Given the description of an element on the screen output the (x, y) to click on. 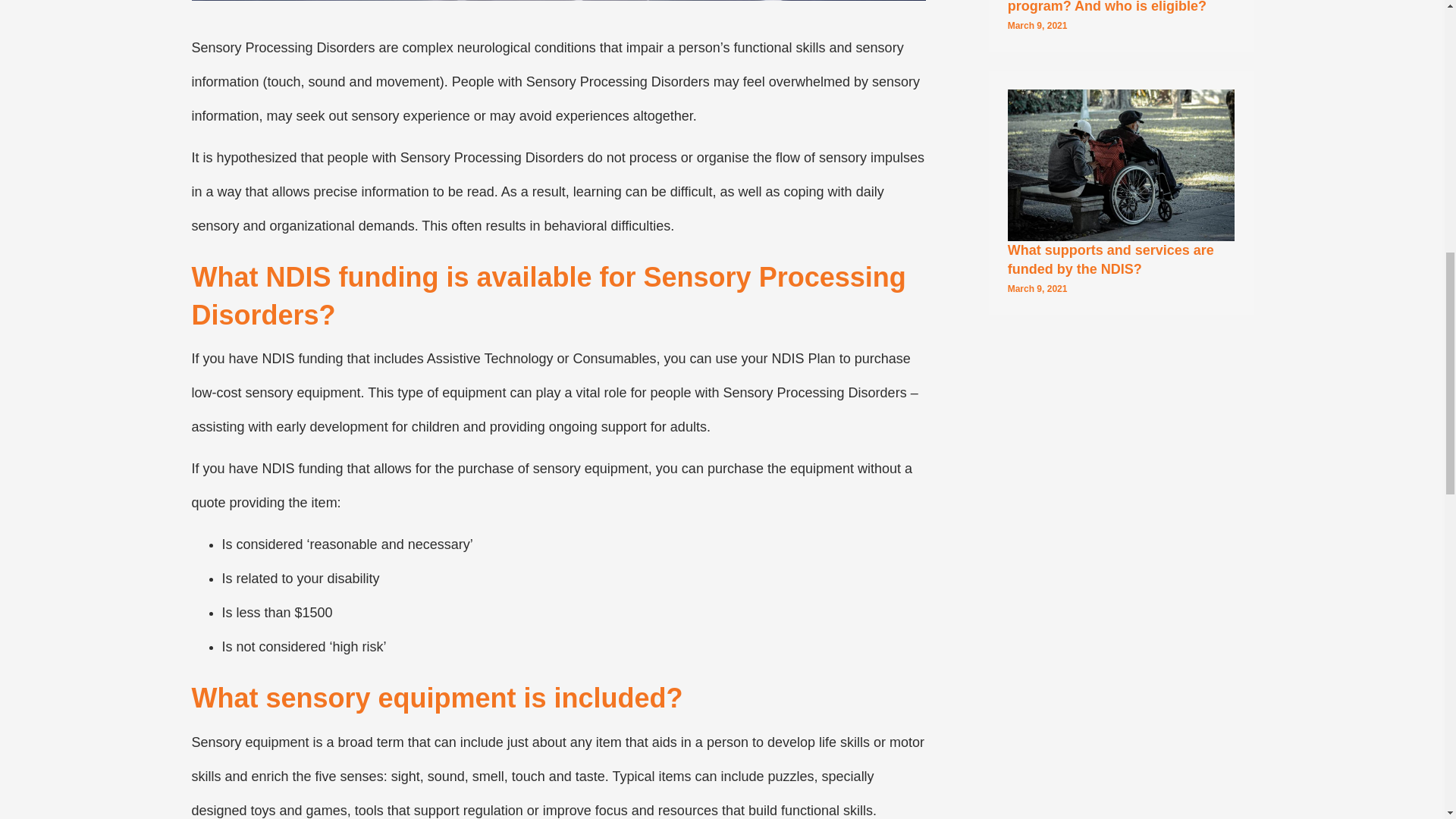
What supports and services are funded by the NDIS? (1110, 259)
What supports and services are funded by the NDIS? (1120, 164)
What is the Home Care Package program? And who is eligible? (1111, 6)
